Given the description of an element on the screen output the (x, y) to click on. 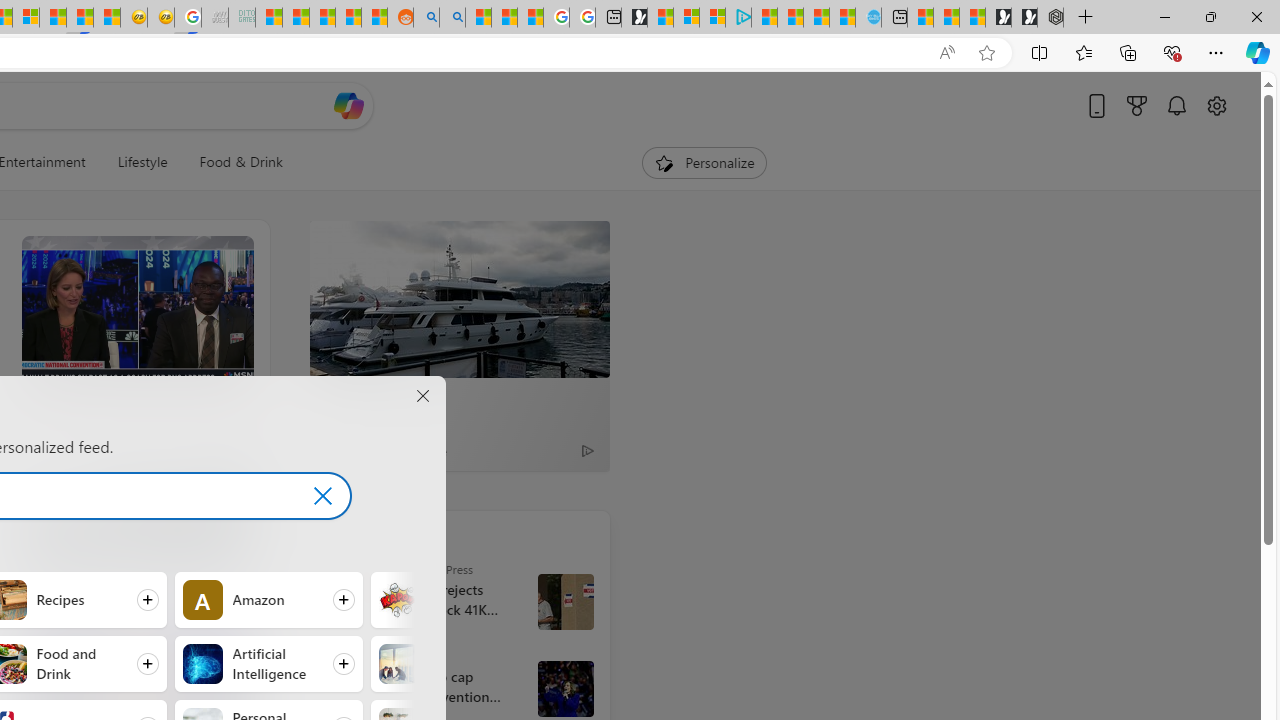
 Harris and Walz campaign in Wisconsin (565, 688)
Comics (397, 599)
Artificial Intelligence (201, 663)
Play Free Online Games | Games from Microsoft Start (1024, 17)
MSNBC - MSN (268, 17)
